Given the description of an element on the screen output the (x, y) to click on. 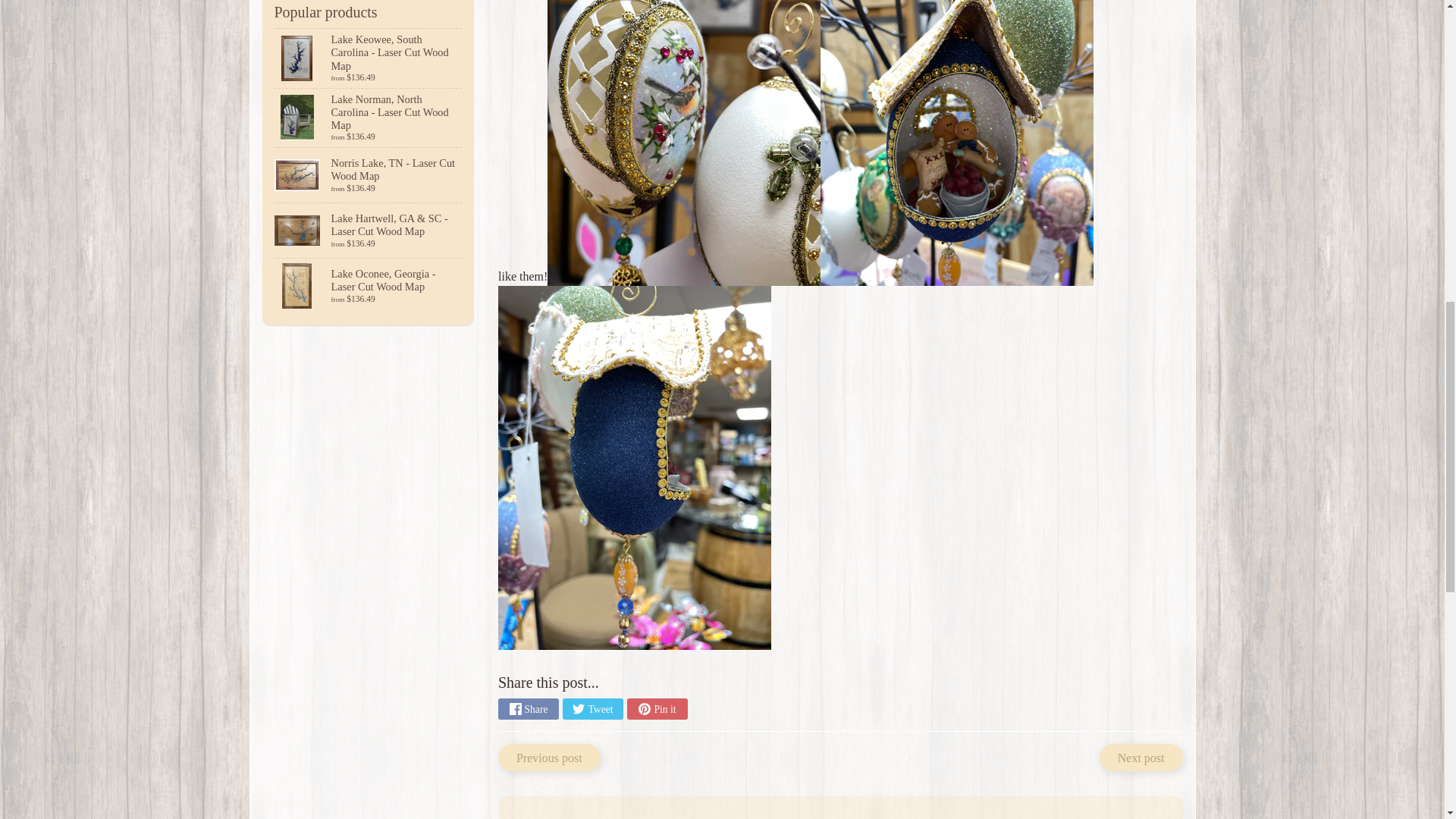
Share on Facebook (528, 708)
Tweet on Twitter (592, 708)
Norris Lake, TN - Laser Cut Wood Map (369, 175)
Lake Norman, North Carolina - Laser Cut Wood Map (369, 118)
Lake Oconee, Georgia - Laser Cut Wood Map (369, 285)
Lake Keowee, South Carolina - Laser Cut Wood Map (369, 57)
Pin on Pinterest (657, 708)
